Given the description of an element on the screen output the (x, y) to click on. 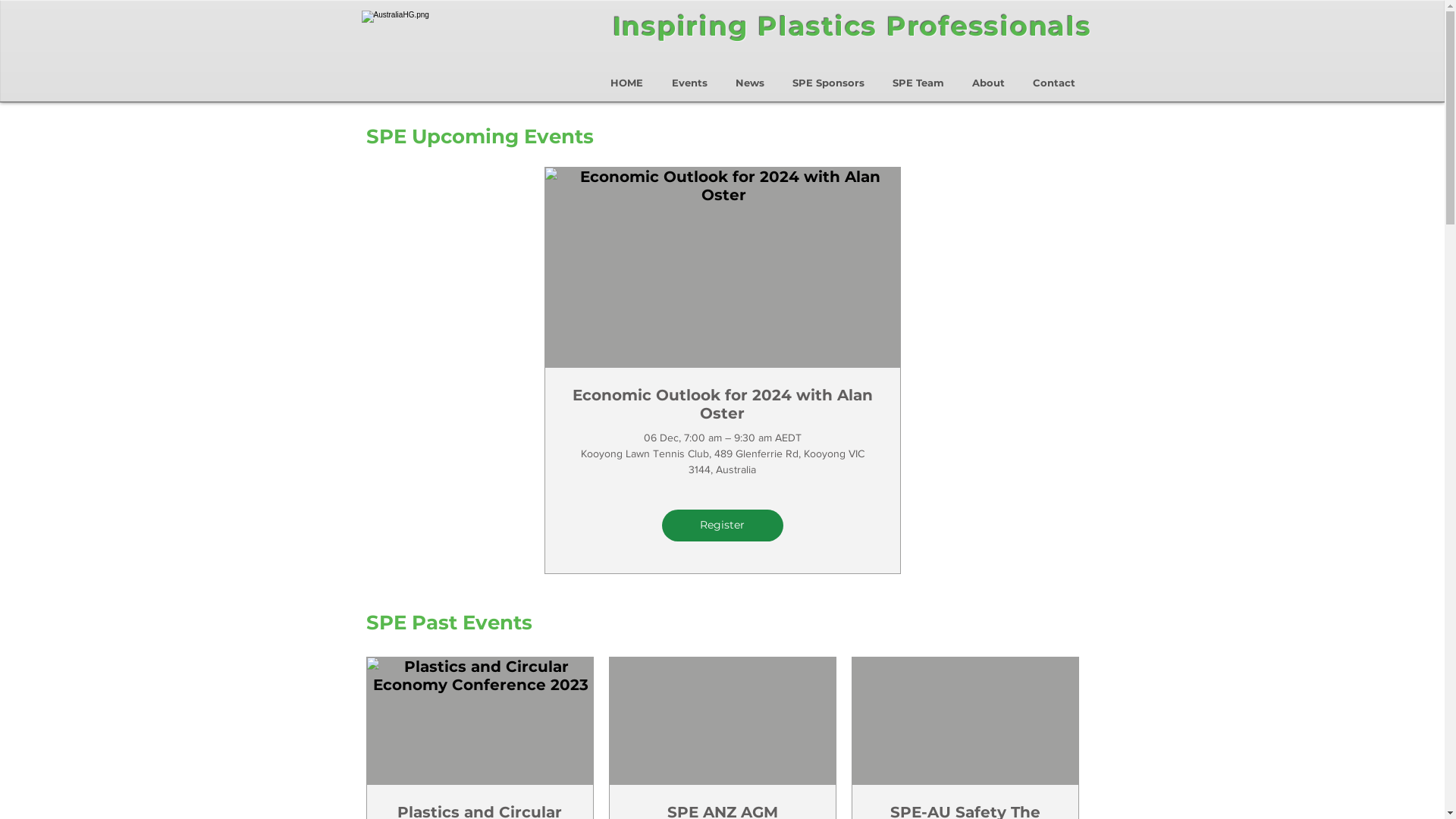
Events Element type: text (688, 76)
SPE Sponsors Element type: text (828, 76)
News Element type: text (749, 76)
Register Element type: text (721, 525)
HOME Element type: text (626, 76)
About Element type: text (988, 76)
SPE Team Element type: text (917, 76)
Economic Outlook for 2024 with Alan Oster Element type: text (721, 403)
Contact Element type: text (1054, 76)
